Given the description of an element on the screen output the (x, y) to click on. 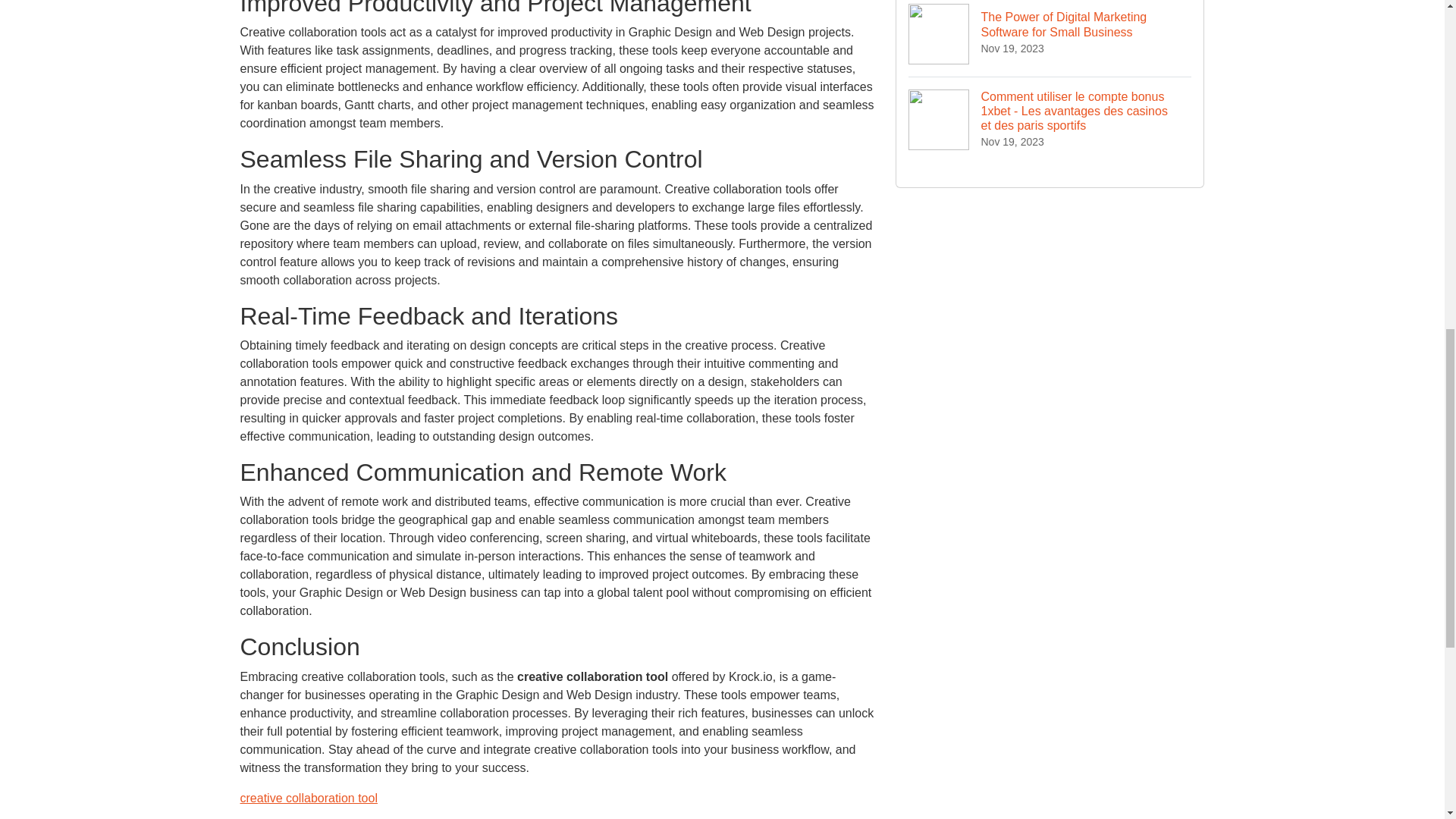
creative collaboration tool (308, 797)
